Given the description of an element on the screen output the (x, y) to click on. 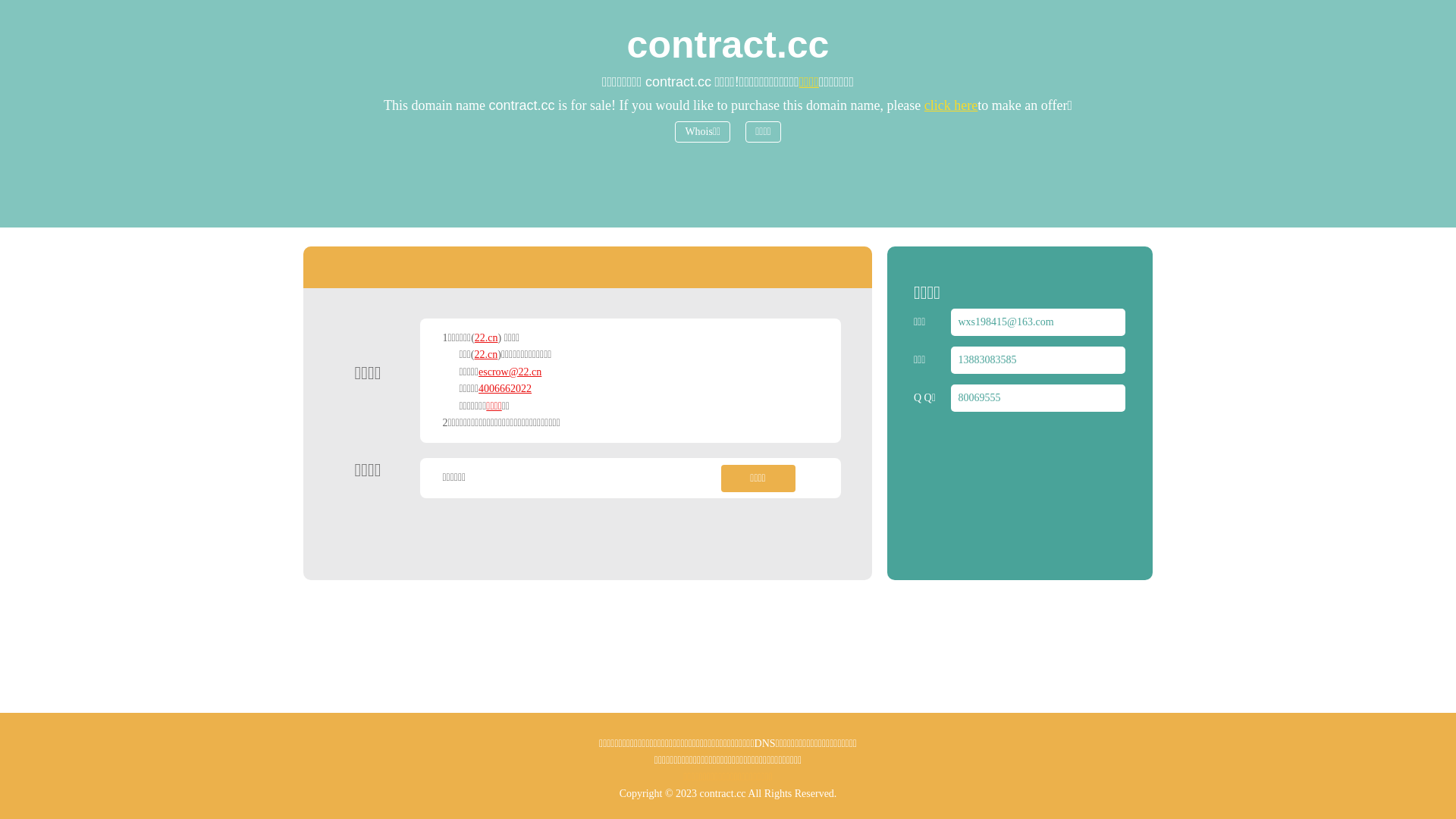
22.cn Element type: text (486, 337)
escrow@22.cn Element type: text (509, 371)
4006662022 Element type: text (504, 388)
click here Element type: text (950, 104)
22.cn Element type: text (486, 354)
